Given the description of an element on the screen output the (x, y) to click on. 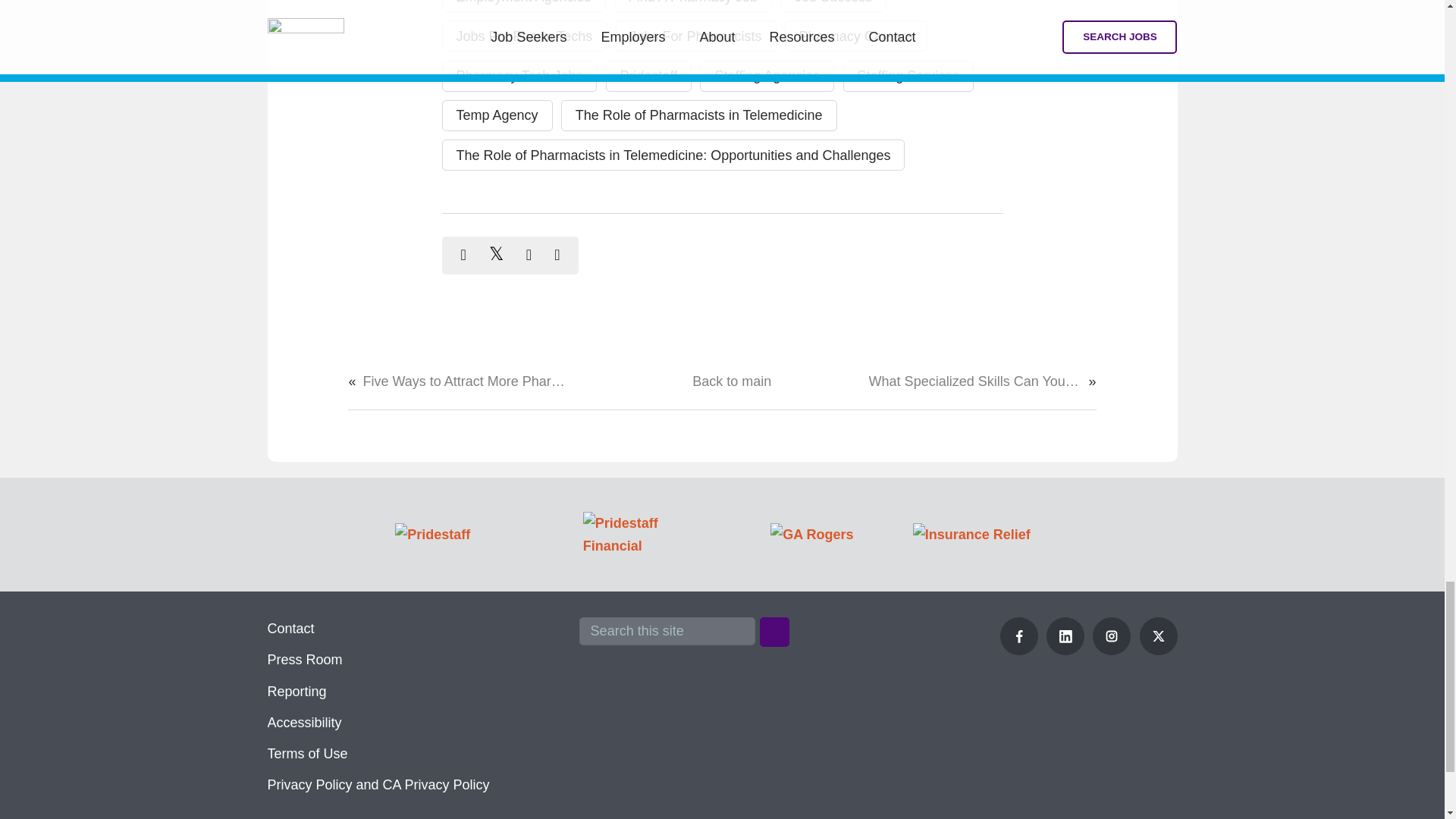
Employment Agencies (523, 6)
Staffing Agencies (767, 75)
Job Success (833, 6)
Find A Pharmacy Job (692, 6)
Pridestaff (648, 75)
Jobs For Pharmacists (695, 35)
Pharmacy Careers (855, 35)
Pharmacy Tech Jobs (518, 75)
Jobs For Pharm Techs (524, 35)
